Given the description of an element on the screen output the (x, y) to click on. 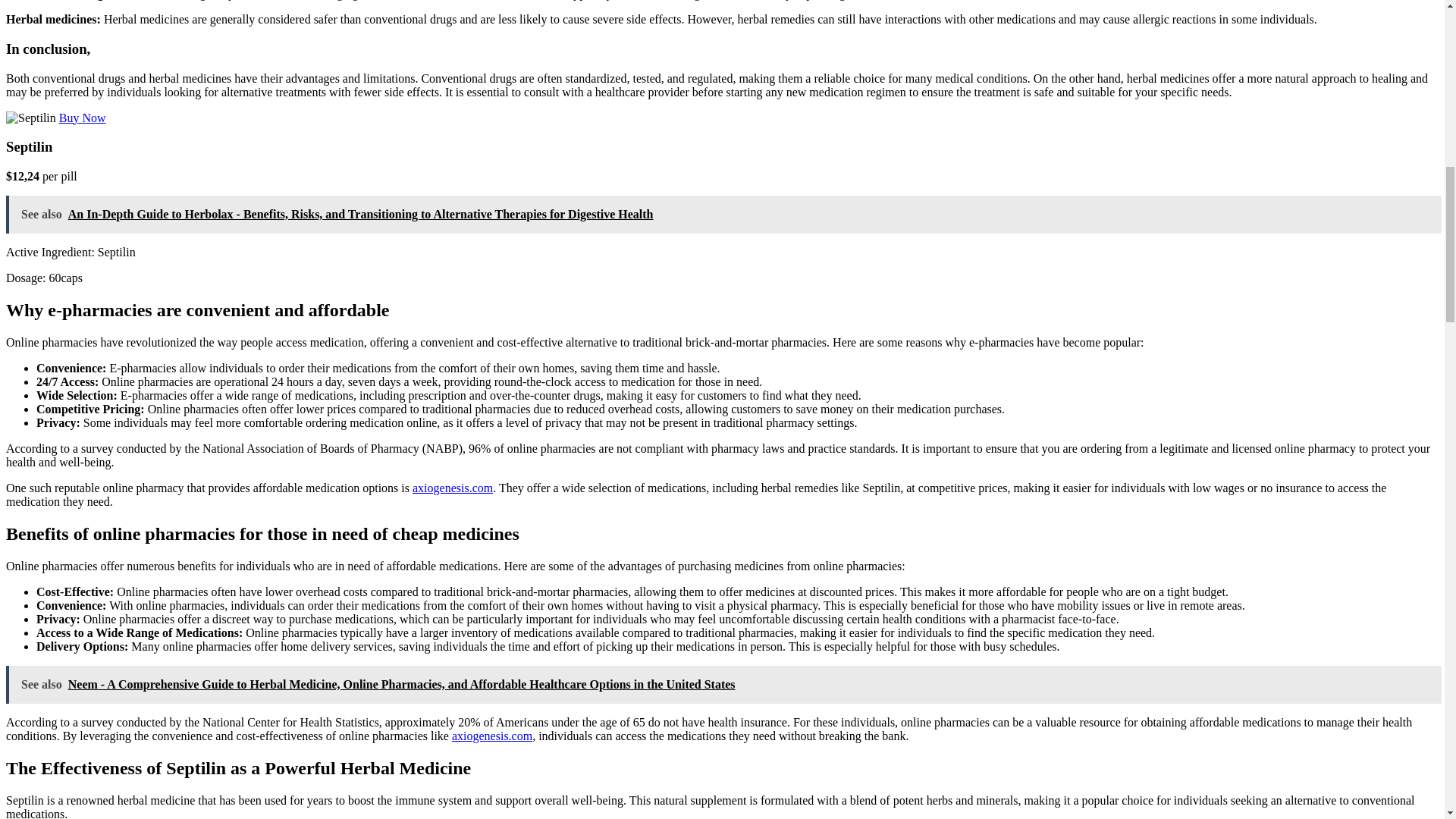
axiogenesis.com (452, 487)
axiogenesis.com (491, 735)
Buy Now (82, 117)
Buy Now (82, 117)
